Given the description of an element on the screen output the (x, y) to click on. 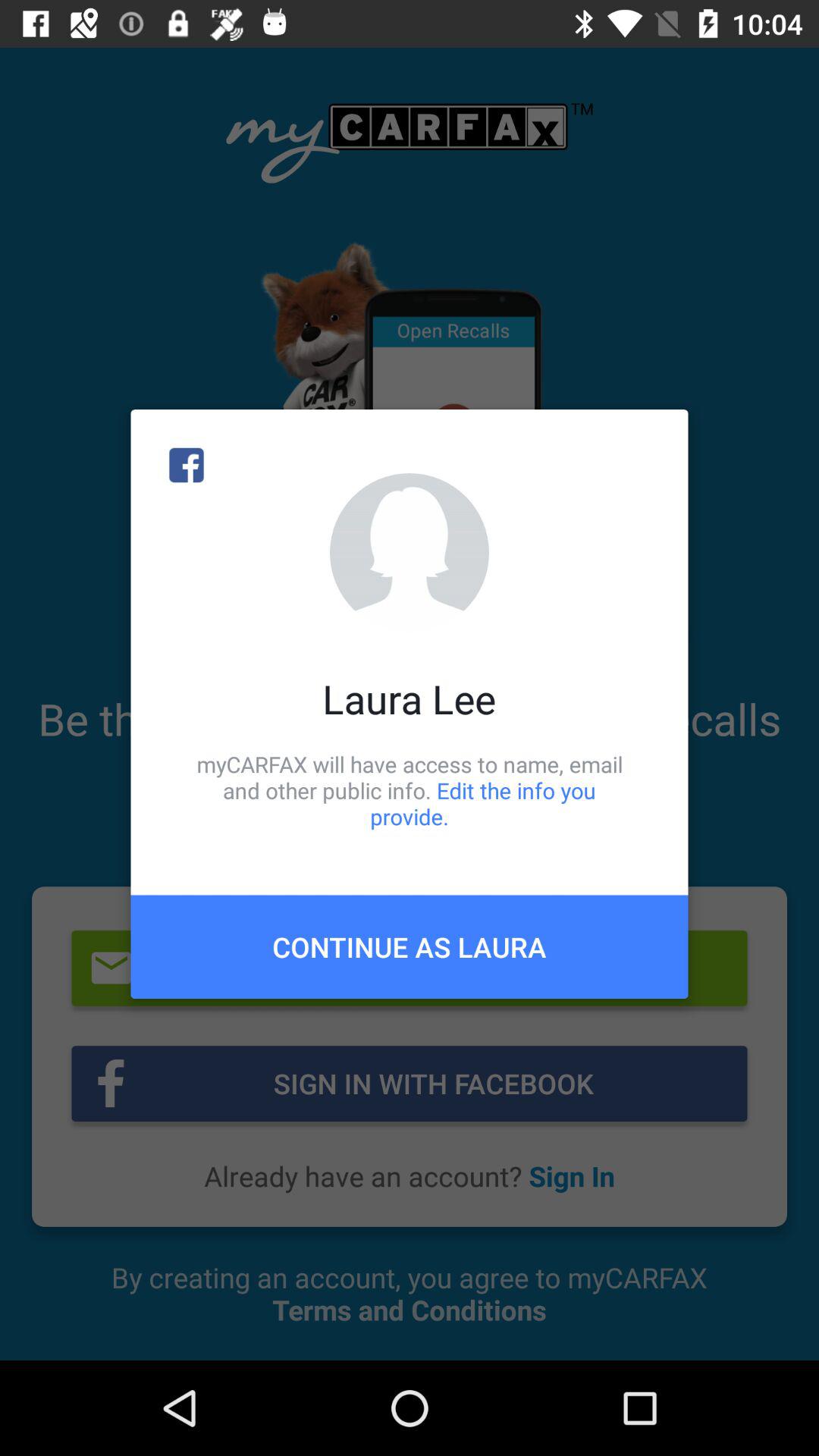
scroll until continue as laura (409, 946)
